Given the description of an element on the screen output the (x, y) to click on. 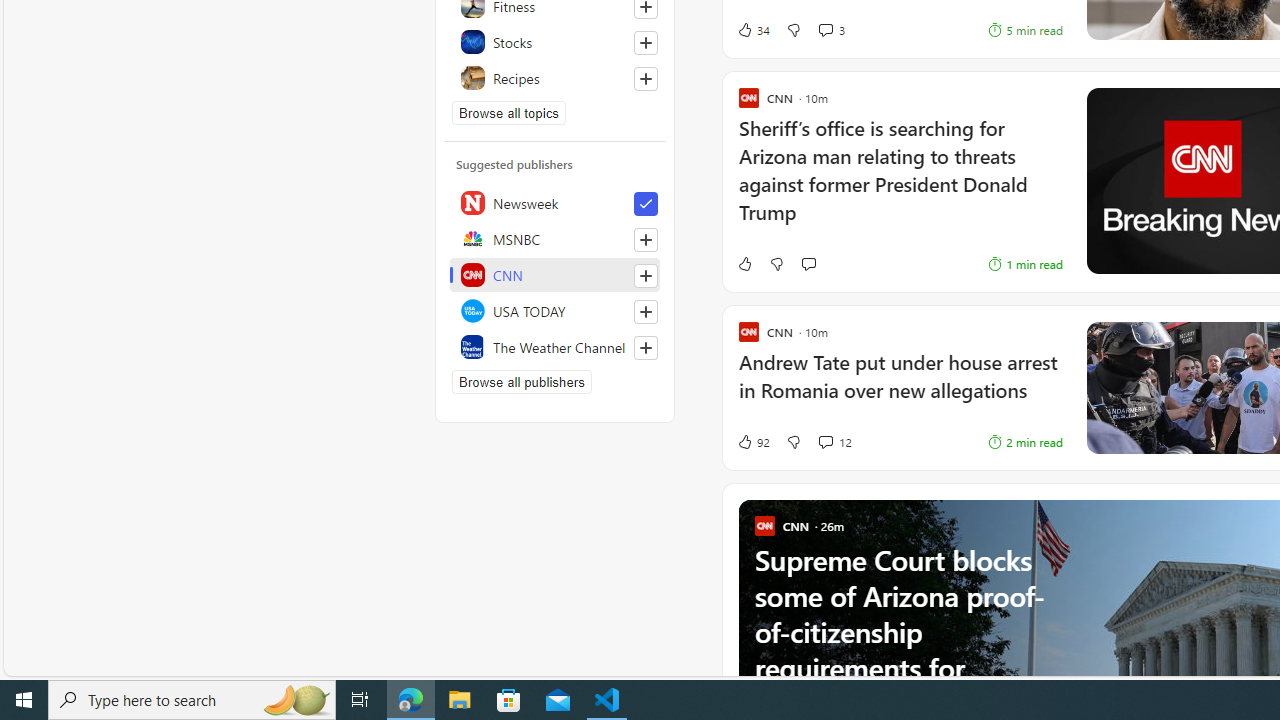
USA TODAY (555, 310)
MSNBC (555, 238)
Browse all topics (509, 112)
The Weather Channel (555, 346)
Start the conversation (808, 264)
Follow this topic (645, 78)
Follow this source (645, 348)
92 Like (753, 442)
CNN (555, 274)
Like (744, 264)
Stocks (555, 42)
View comments 3 Comment (830, 30)
Dislike (793, 442)
